Given the description of an element on the screen output the (x, y) to click on. 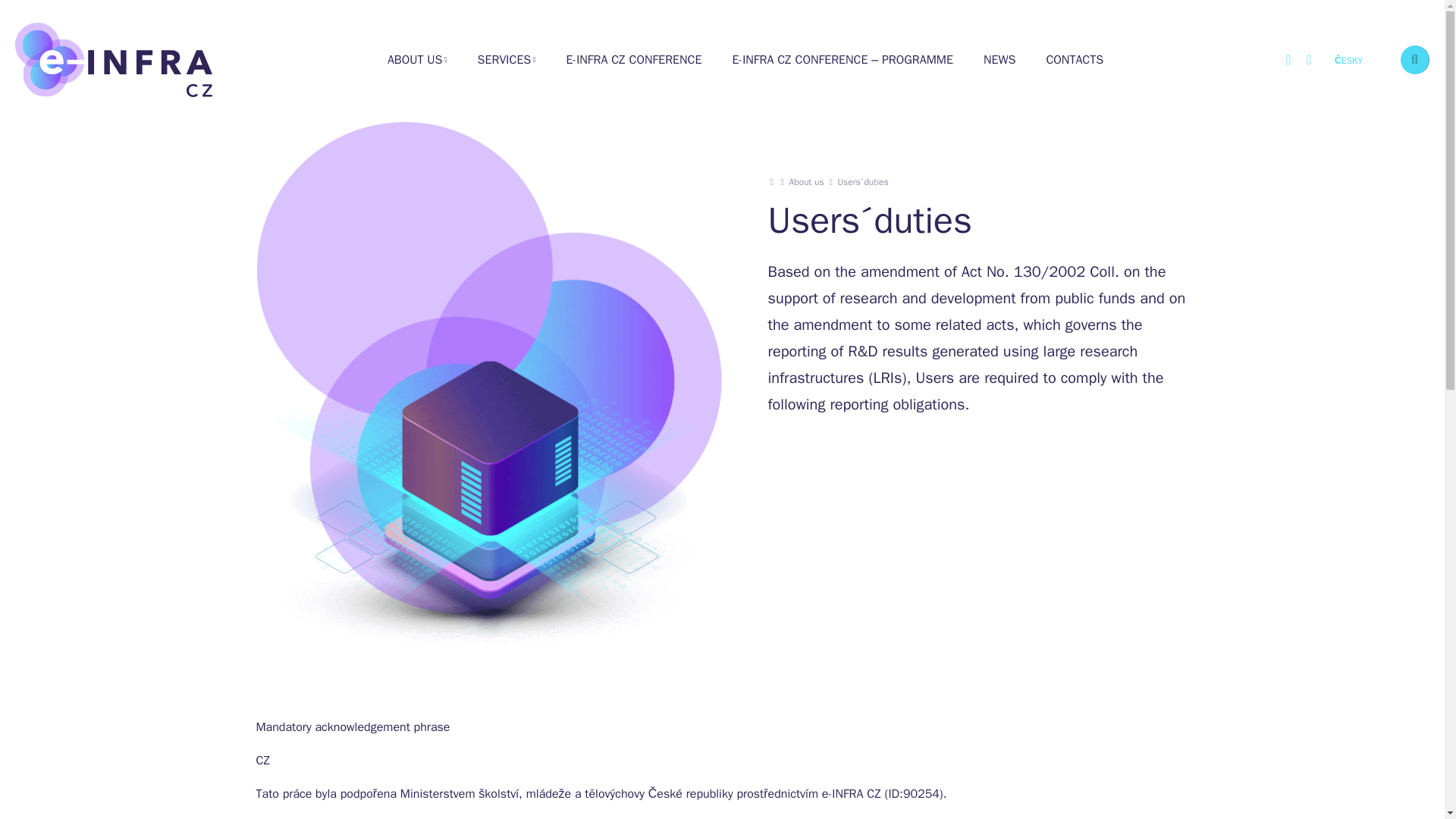
NEWS (999, 59)
CONTACTS (1074, 59)
E-INFRA CZ CONFERENCE (633, 59)
SERVICES (507, 59)
ABOUT US (417, 59)
